Given the description of an element on the screen output the (x, y) to click on. 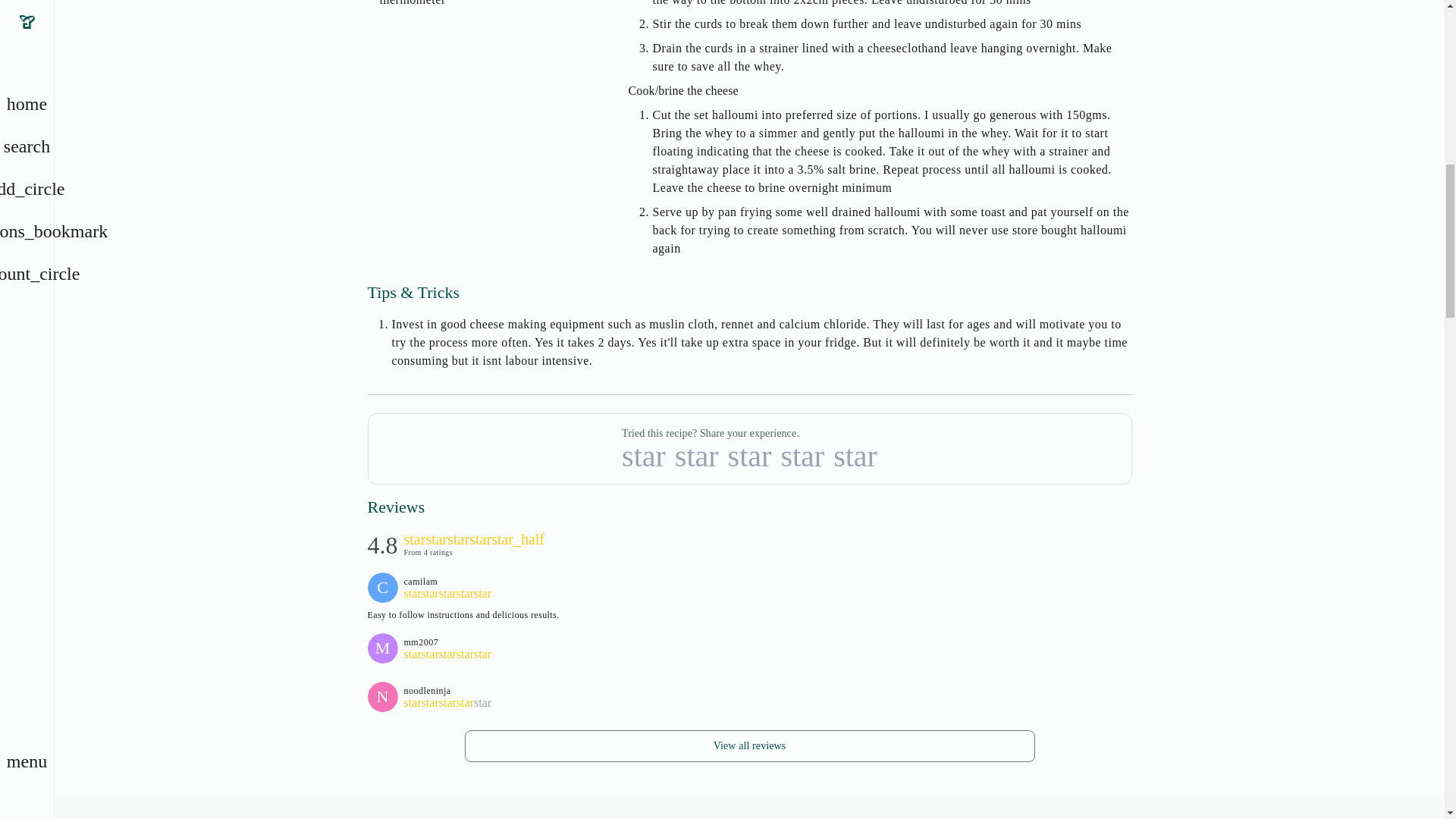
View all reviews (748, 746)
